Given the description of an element on the screen output the (x, y) to click on. 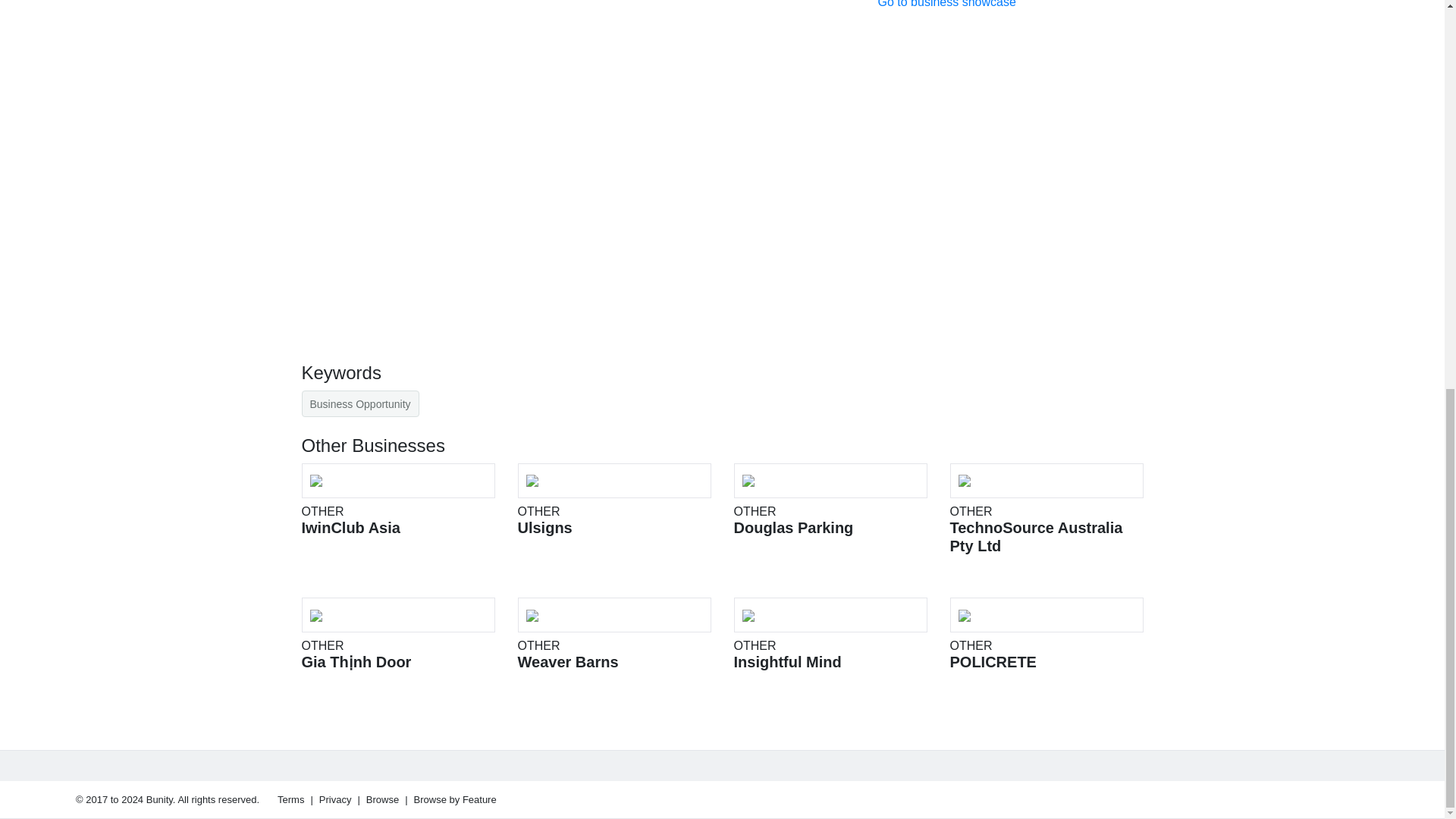
Browse by Feature (398, 500)
Privacy (613, 633)
Business Opportunity (454, 799)
Terms (335, 799)
Go to business showcase (360, 403)
